Given the description of an element on the screen output the (x, y) to click on. 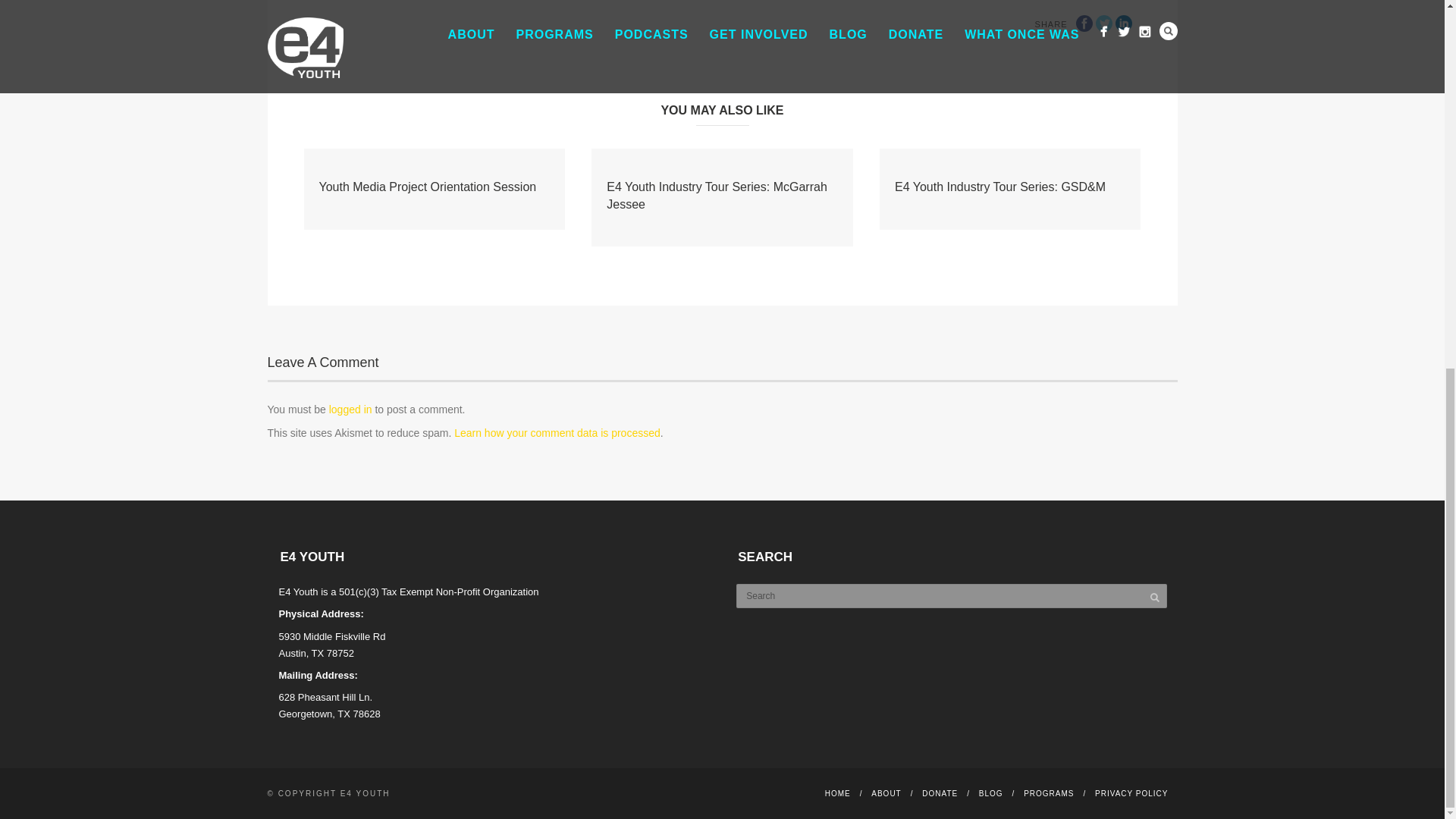
Facebook (1083, 23)
LinkedIn (1123, 23)
Twitter (1103, 23)
